Given the description of an element on the screen output the (x, y) to click on. 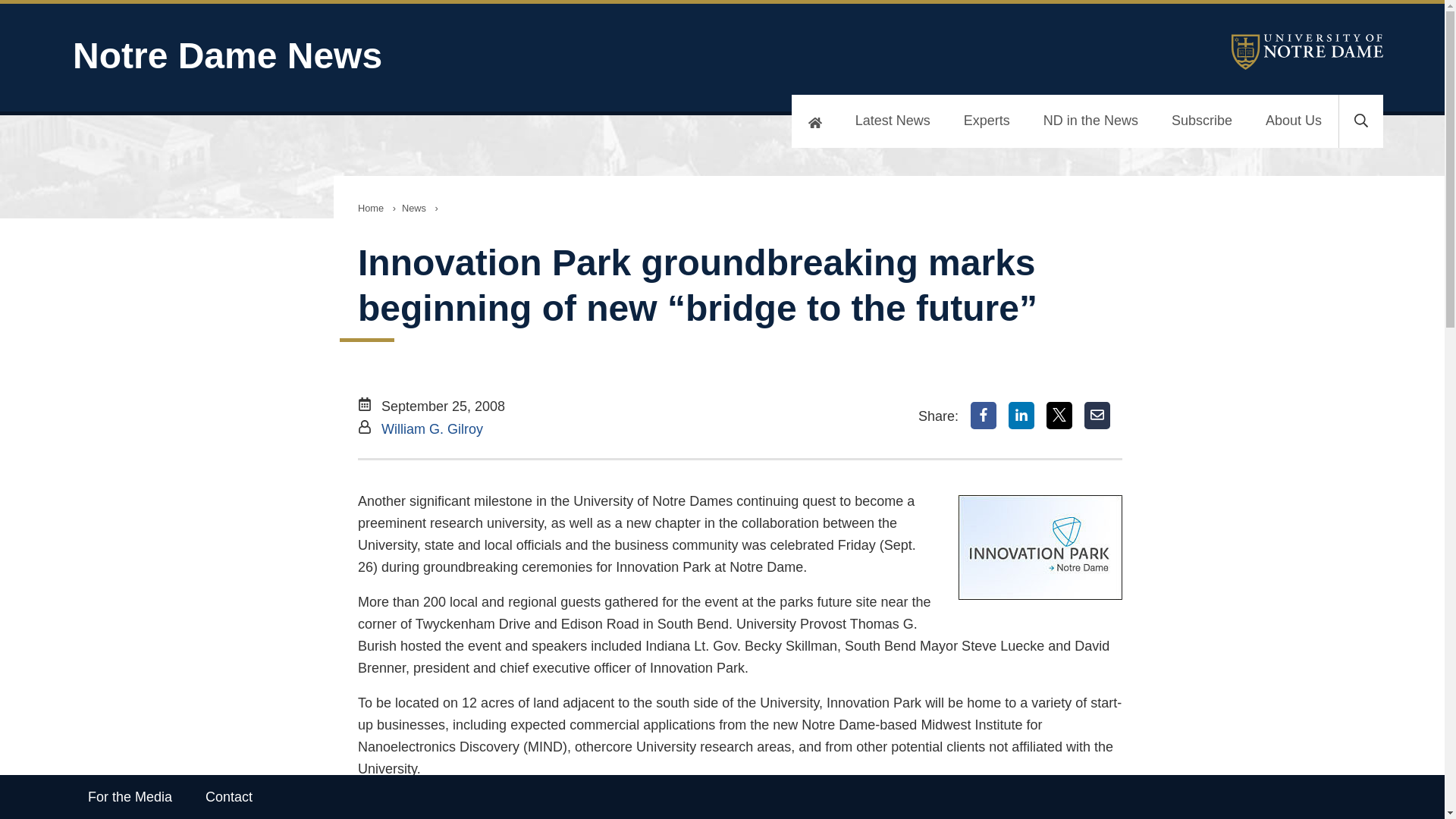
Latest News (892, 121)
William G. Gilroy (432, 428)
LinkedIn (1021, 415)
Subscribe (1201, 121)
ND in the News (1090, 121)
Email (1096, 415)
News (414, 207)
University of Notre Dame (1307, 51)
Experts (986, 121)
About Us (1293, 121)
